Given the description of an element on the screen output the (x, y) to click on. 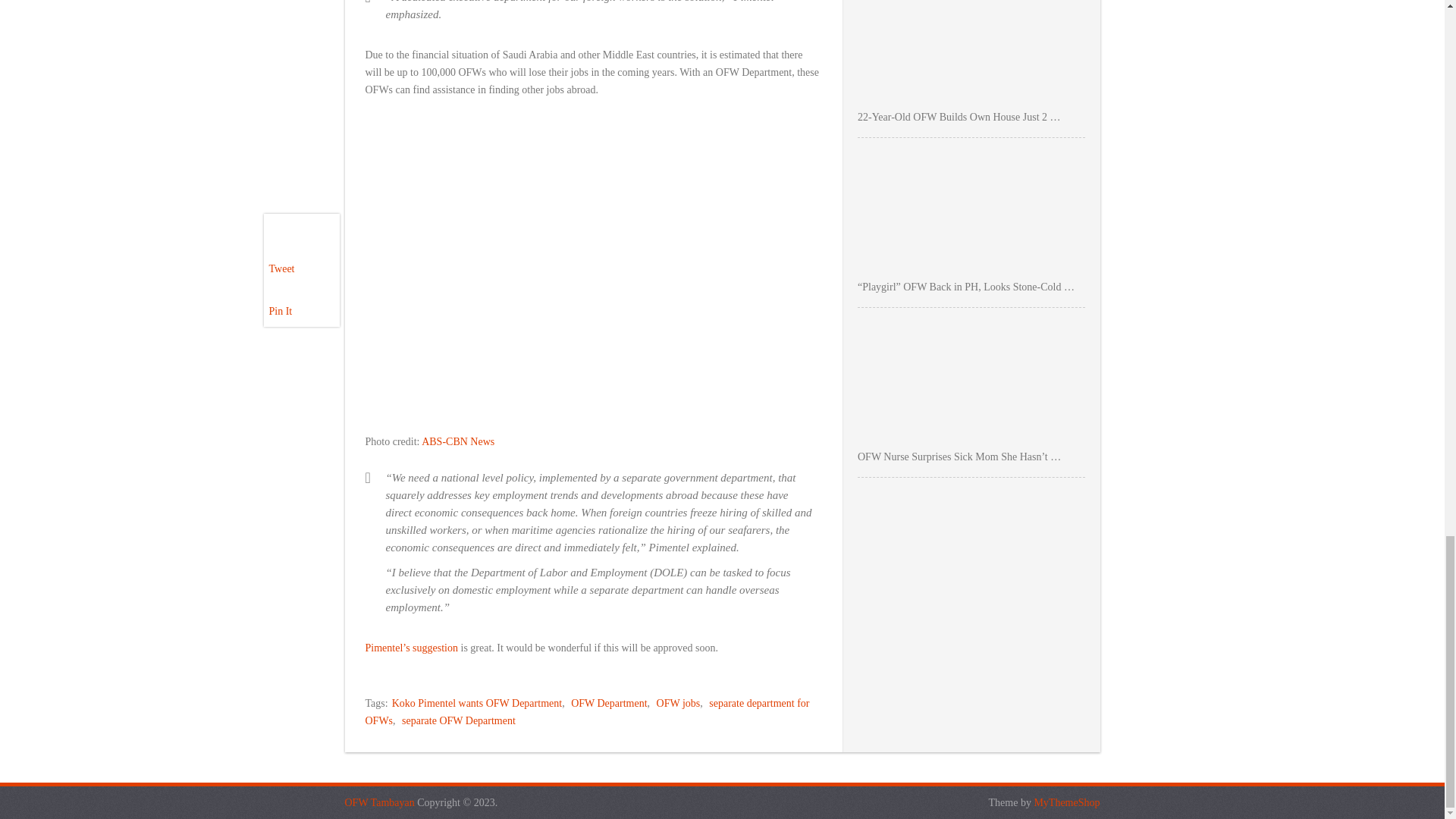
ABS-CBN News (458, 441)
OFW Department (608, 703)
separate department for OFWs (587, 711)
OFW jobs (678, 703)
separate OFW Department (458, 720)
Koko Pimentel wants OFW Department (476, 703)
